Given the description of an element on the screen output the (x, y) to click on. 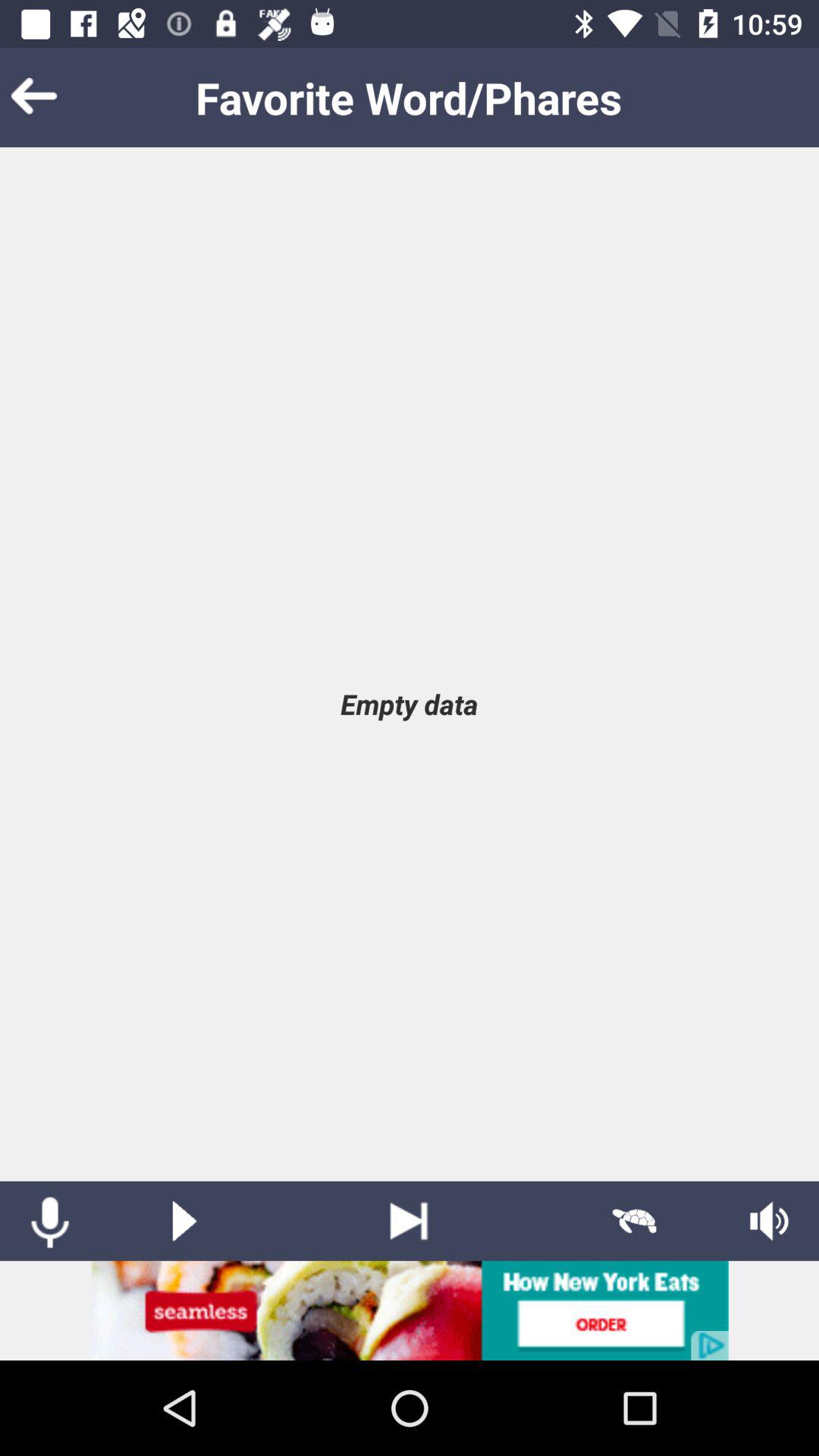
slow play (634, 1220)
